Given the description of an element on the screen output the (x, y) to click on. 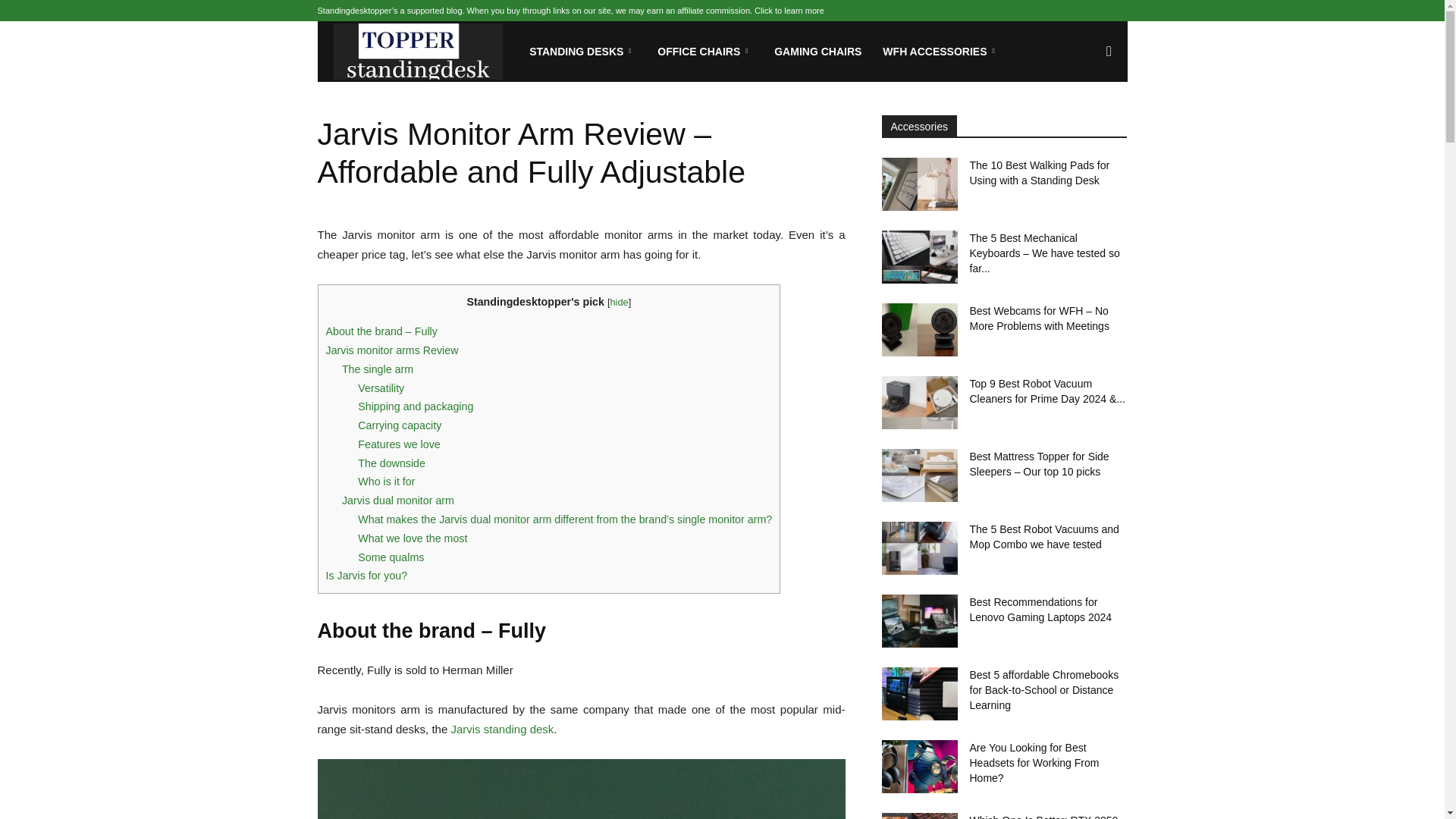
Standing desk topper (418, 51)
OFFICE CHAIRS (704, 51)
STANDING DESKS (582, 51)
